Given the description of an element on the screen output the (x, y) to click on. 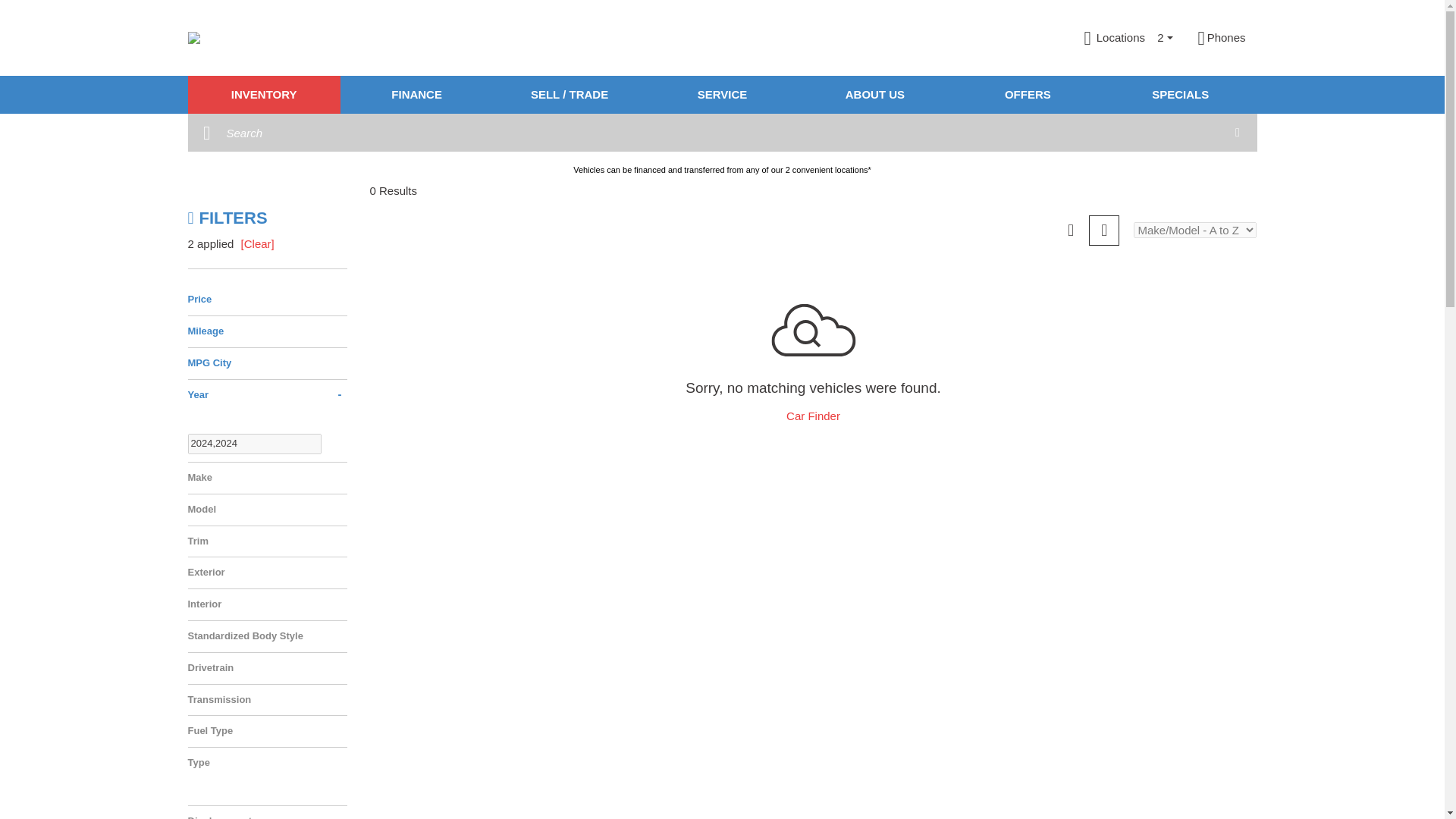
2024,2024 (254, 444)
FINANCE (416, 94)
Phones (1220, 37)
INVENTORY (263, 94)
Locations 2 (1130, 37)
Fellah Auto Group (193, 37)
